Given the description of an element on the screen output the (x, y) to click on. 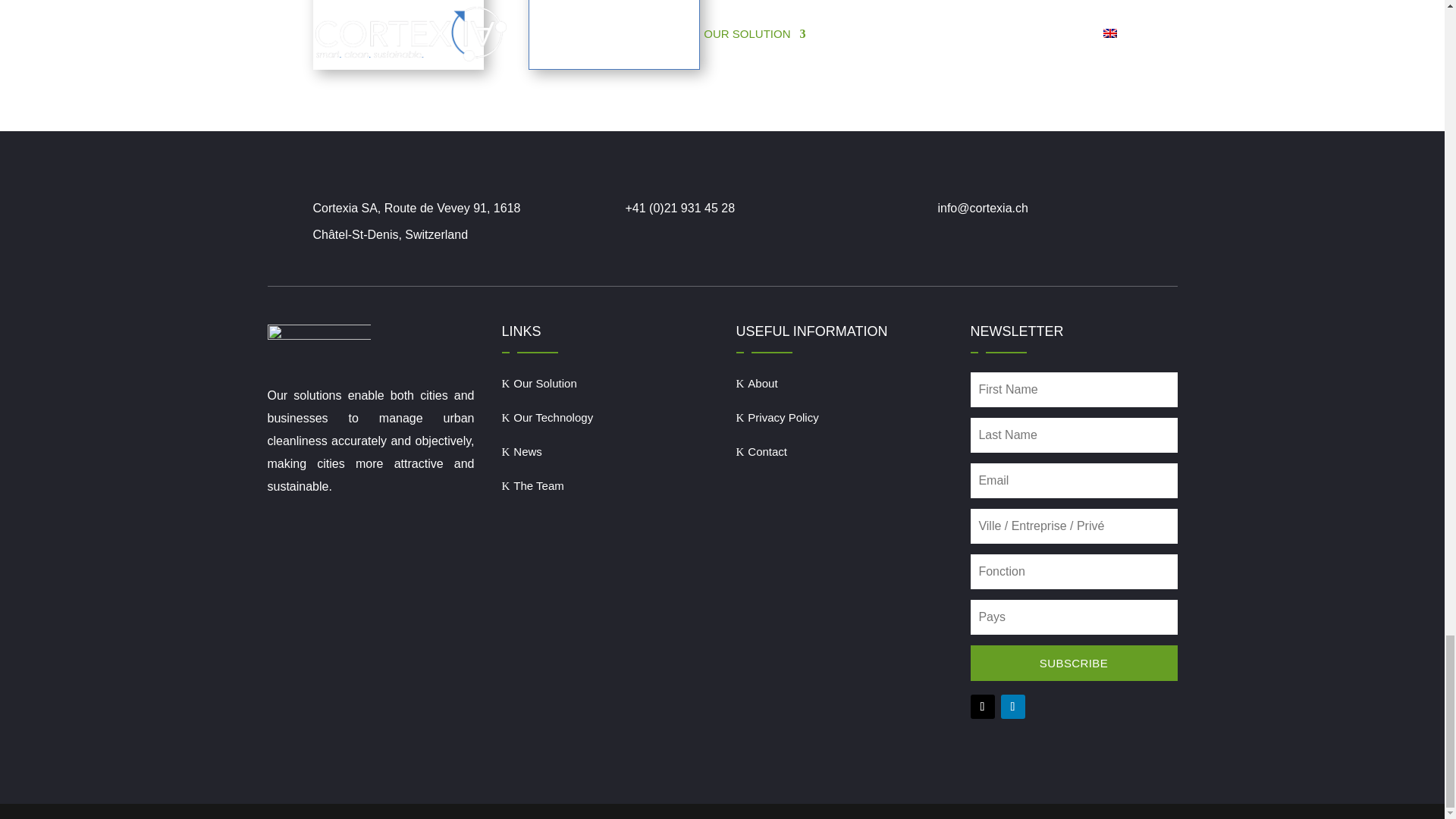
News (521, 451)
Logo-Microsoft (398, 34)
Contact (761, 451)
The Team (533, 485)
About (756, 382)
SUBSCRIBE (1074, 662)
Privacy Policy (776, 417)
Only letters allowed. (1074, 616)
Our Technology (548, 417)
Follow on LinkedIn (1013, 706)
Our Solution (539, 382)
Follow on X (982, 706)
